Given the description of an element on the screen output the (x, y) to click on. 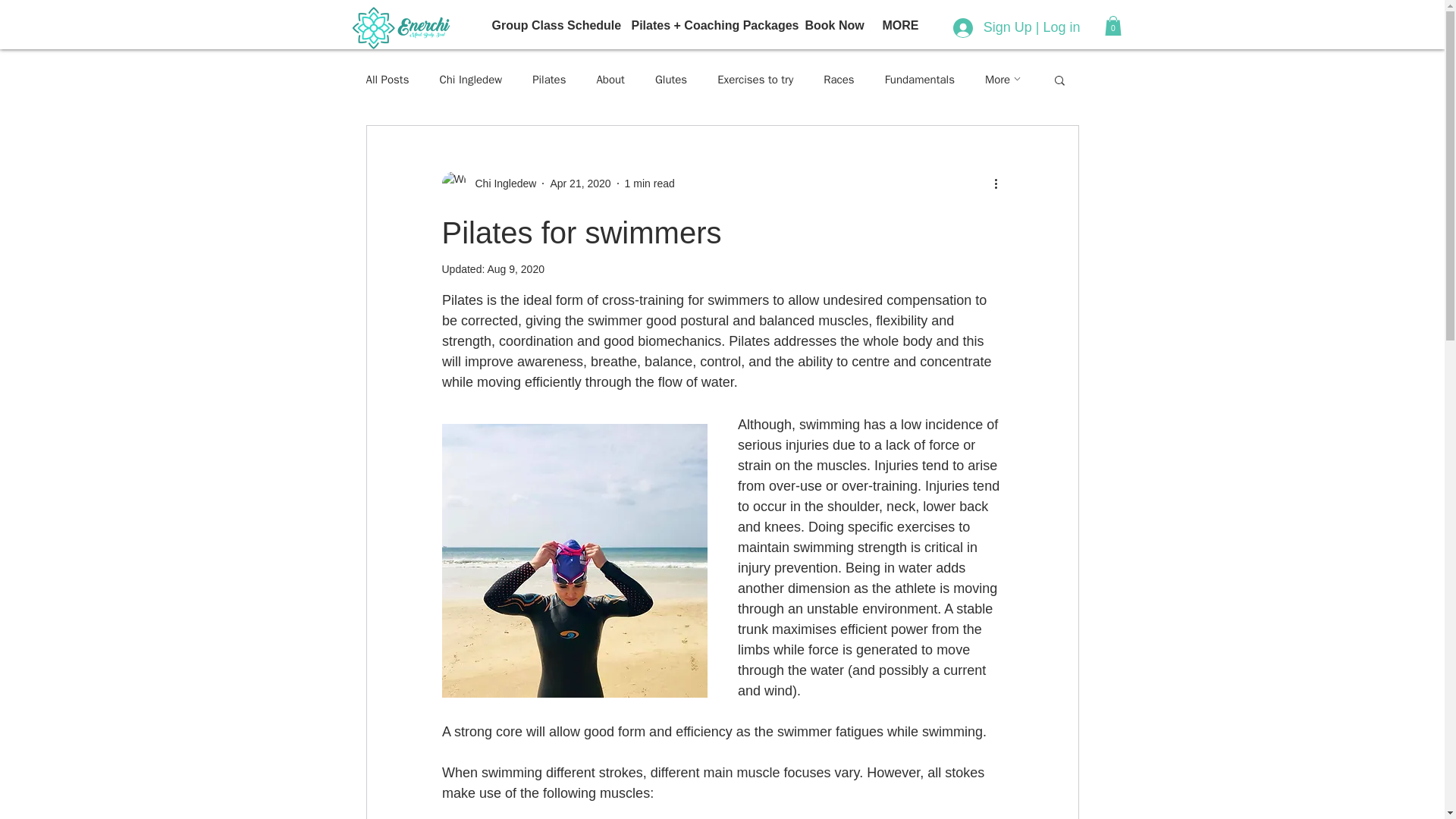
Chi Ingledew (500, 183)
Chi Ingledew (488, 183)
Exercises to try (755, 79)
Chi Ingledew (470, 79)
Glutes (671, 79)
Races (838, 79)
Enerchi Fitness Logo (399, 27)
1 min read (649, 183)
Aug 9, 2020 (515, 268)
All Posts (387, 79)
About (609, 79)
Pilates (549, 79)
Fundamentals (920, 79)
Book Now (831, 25)
Apr 21, 2020 (580, 183)
